Given the description of an element on the screen output the (x, y) to click on. 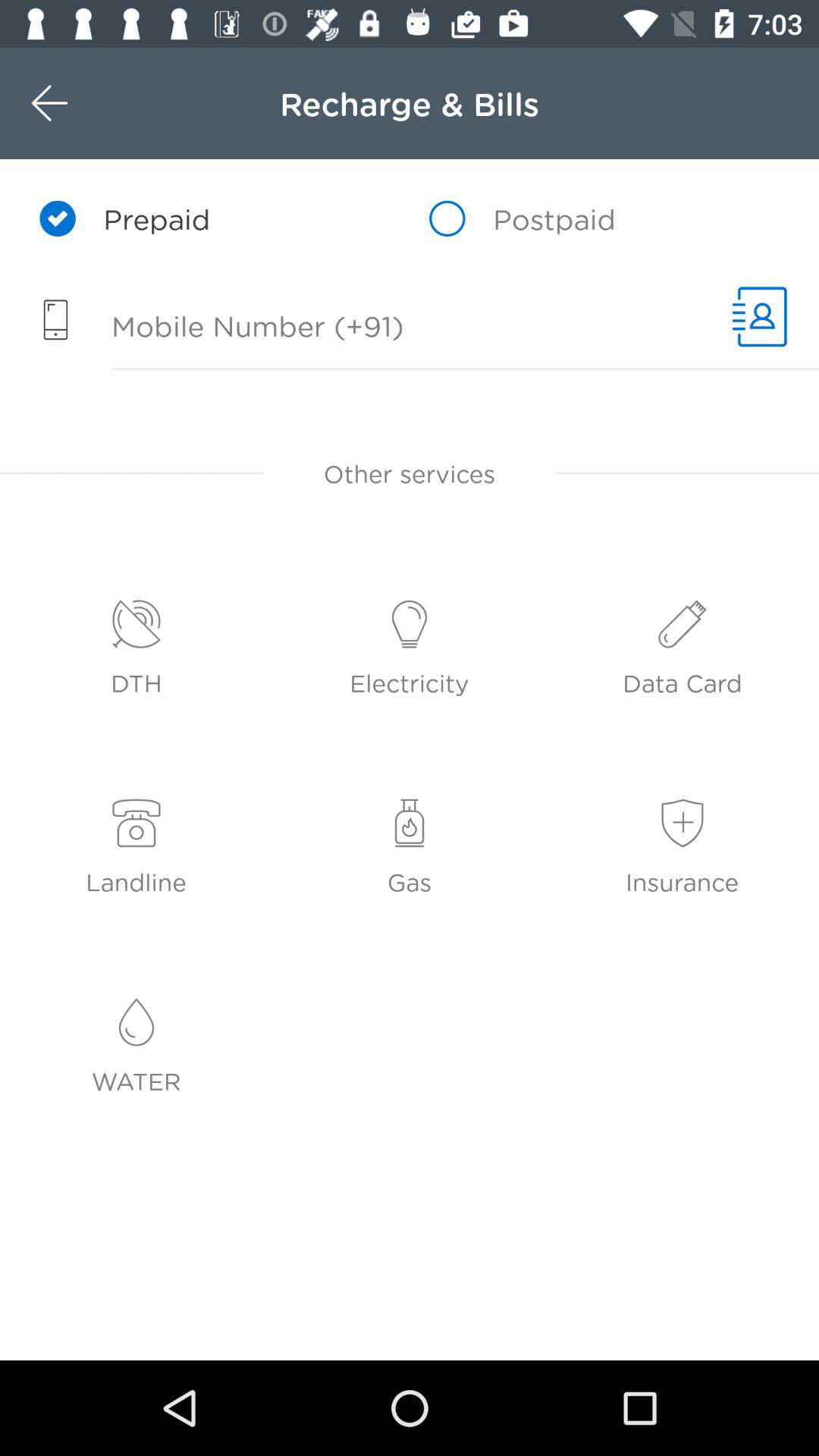
enter number box (358, 328)
